Given the description of an element on the screen output the (x, y) to click on. 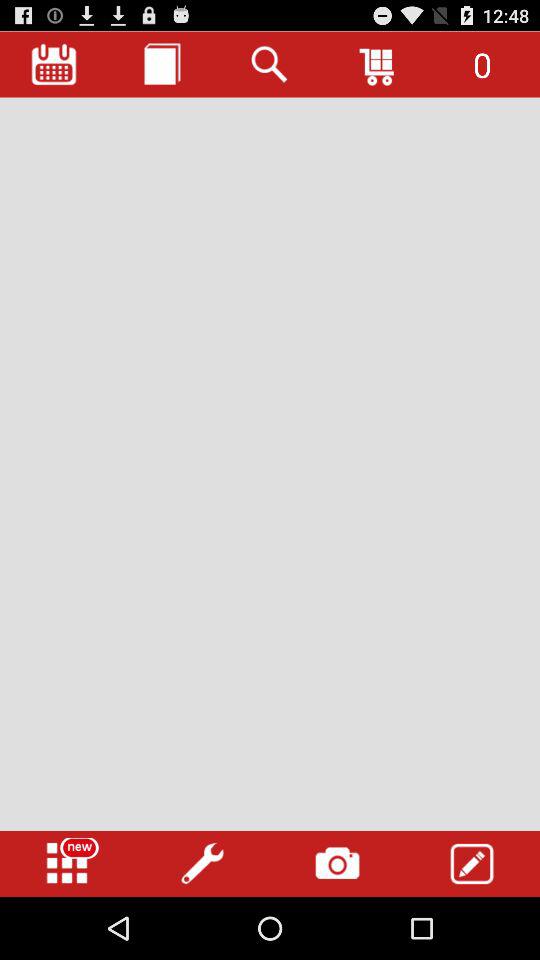
menu selection (67, 863)
